Given the description of an element on the screen output the (x, y) to click on. 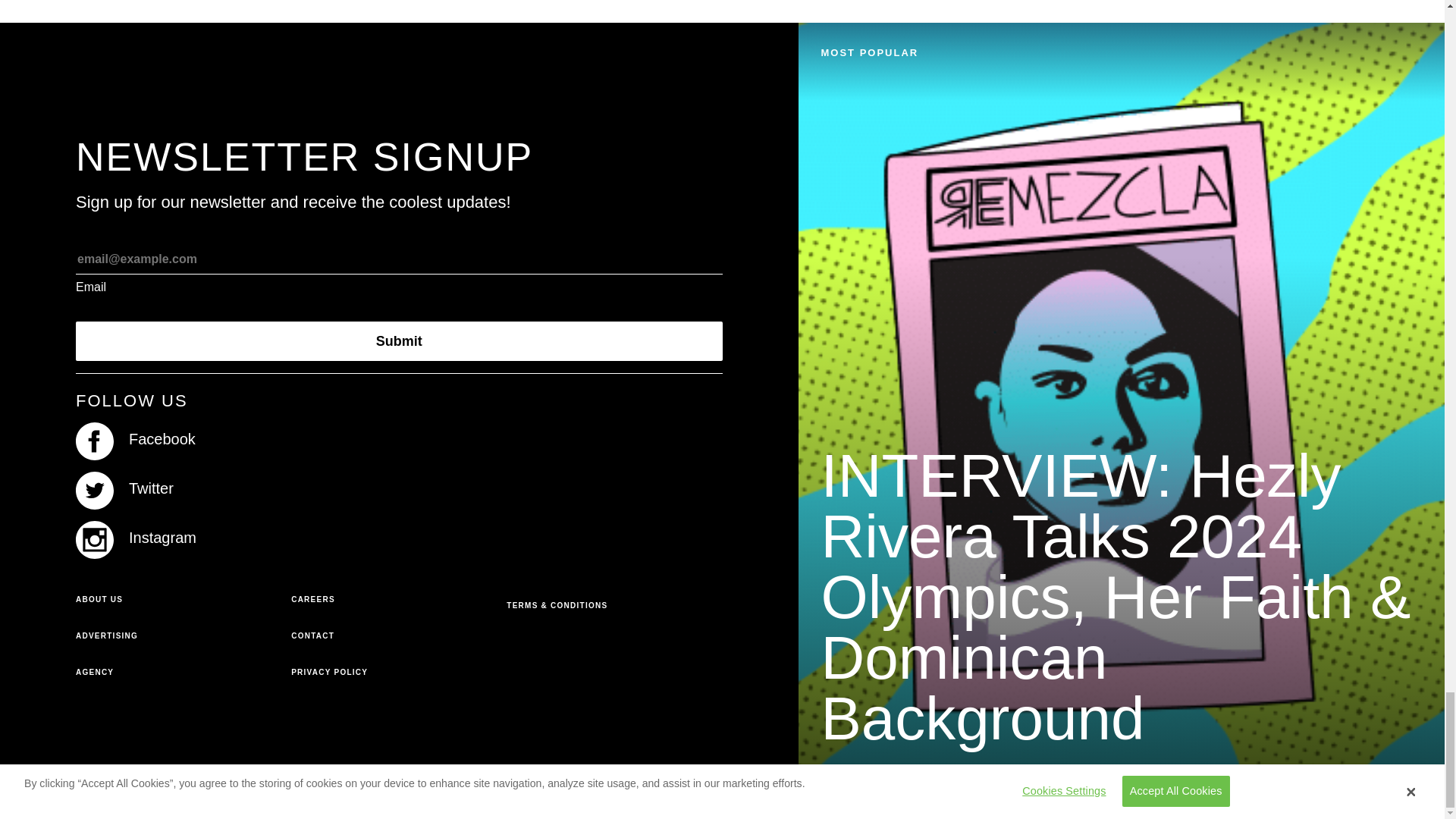
Submit (398, 341)
